Given the description of an element on the screen output the (x, y) to click on. 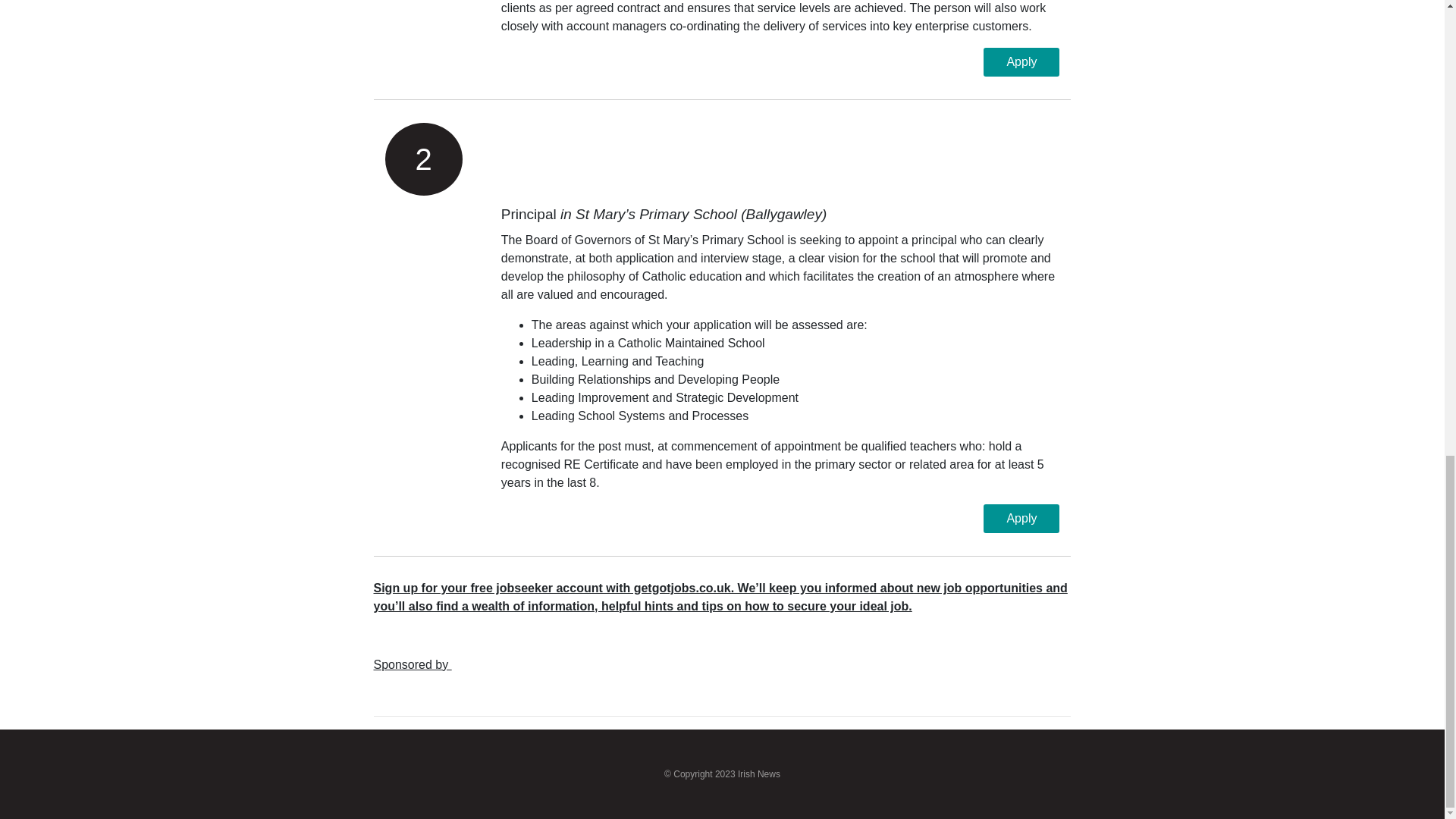
Apply (1021, 518)
Apply (1021, 61)
